Given the description of an element on the screen output the (x, y) to click on. 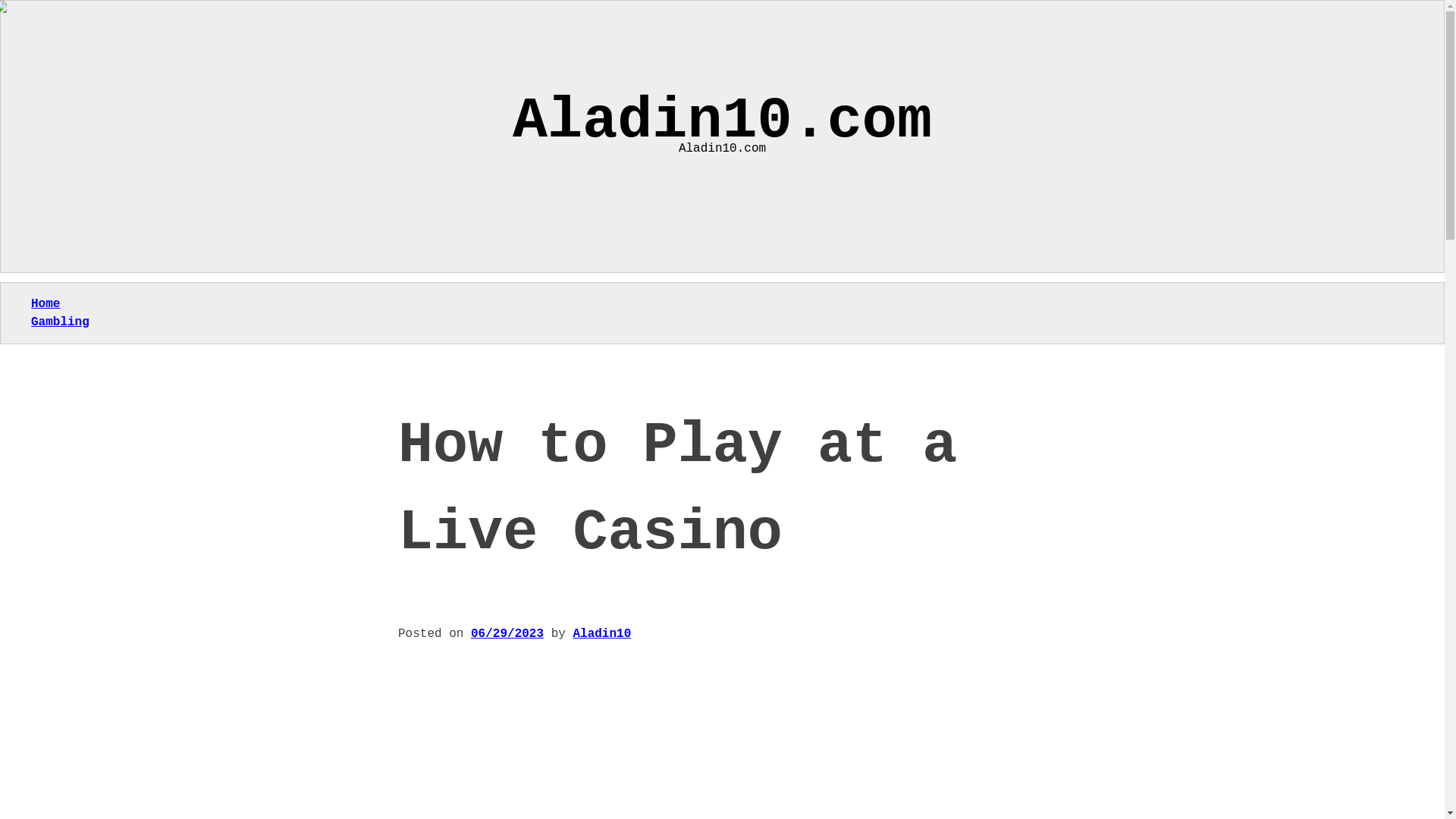
Aladin10.com (721, 120)
Home (44, 304)
Gambling (59, 322)
Aladin10 (601, 633)
